Given the description of an element on the screen output the (x, y) to click on. 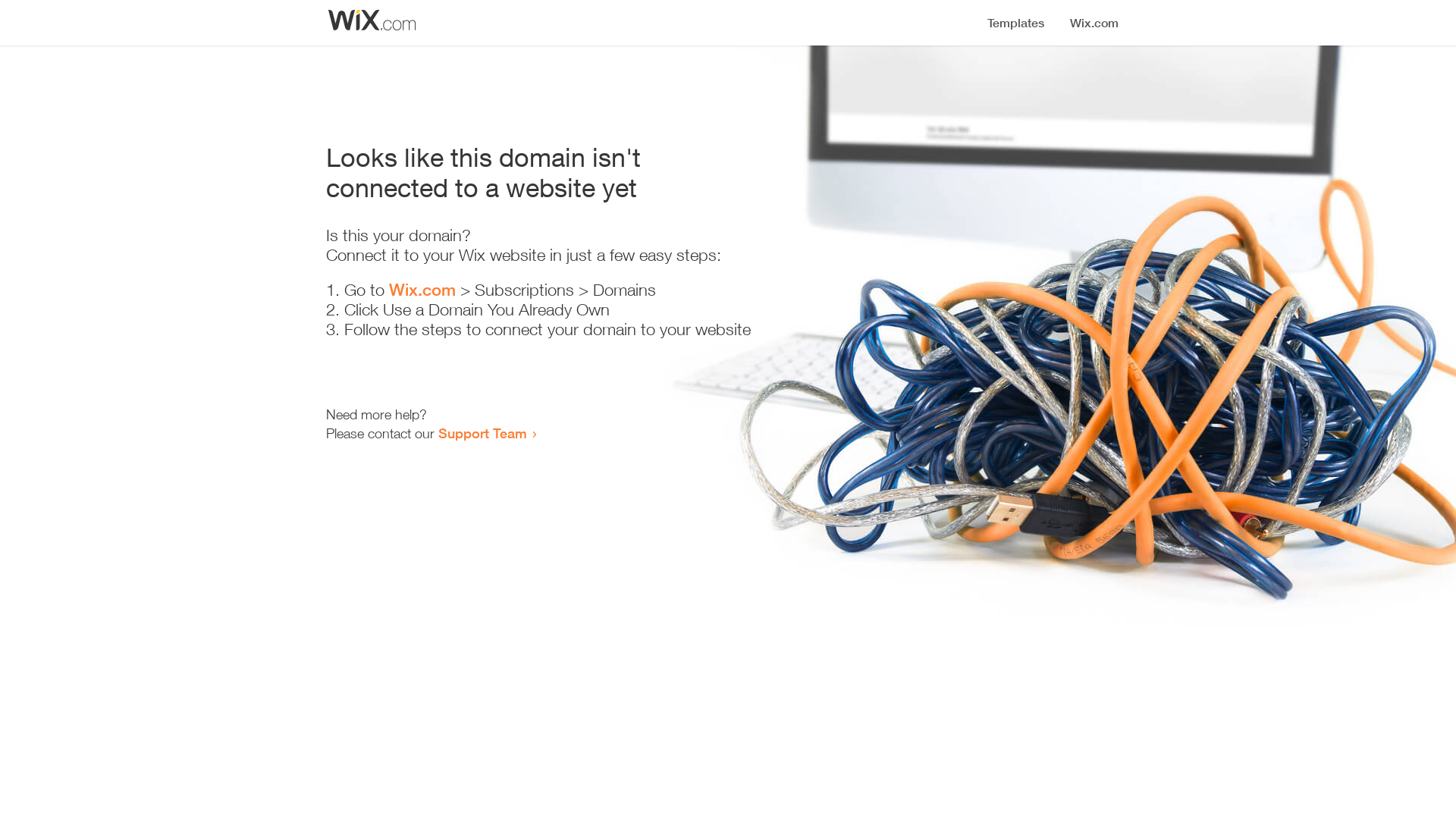
Wix.com Element type: text (422, 289)
Support Team Element type: text (482, 432)
